Given the description of an element on the screen output the (x, y) to click on. 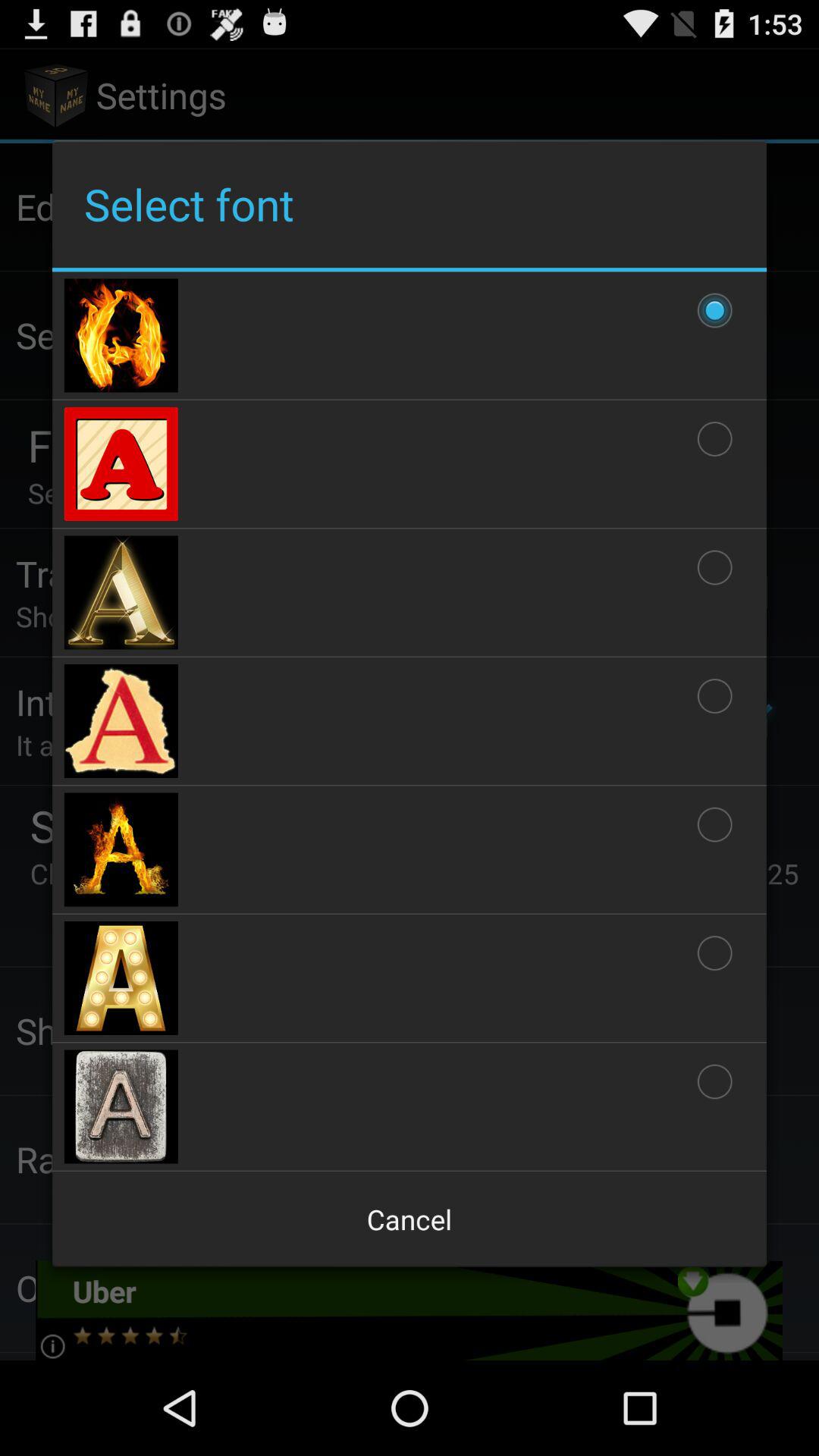
turn on the cancel item (409, 1219)
